Given the description of an element on the screen output the (x, y) to click on. 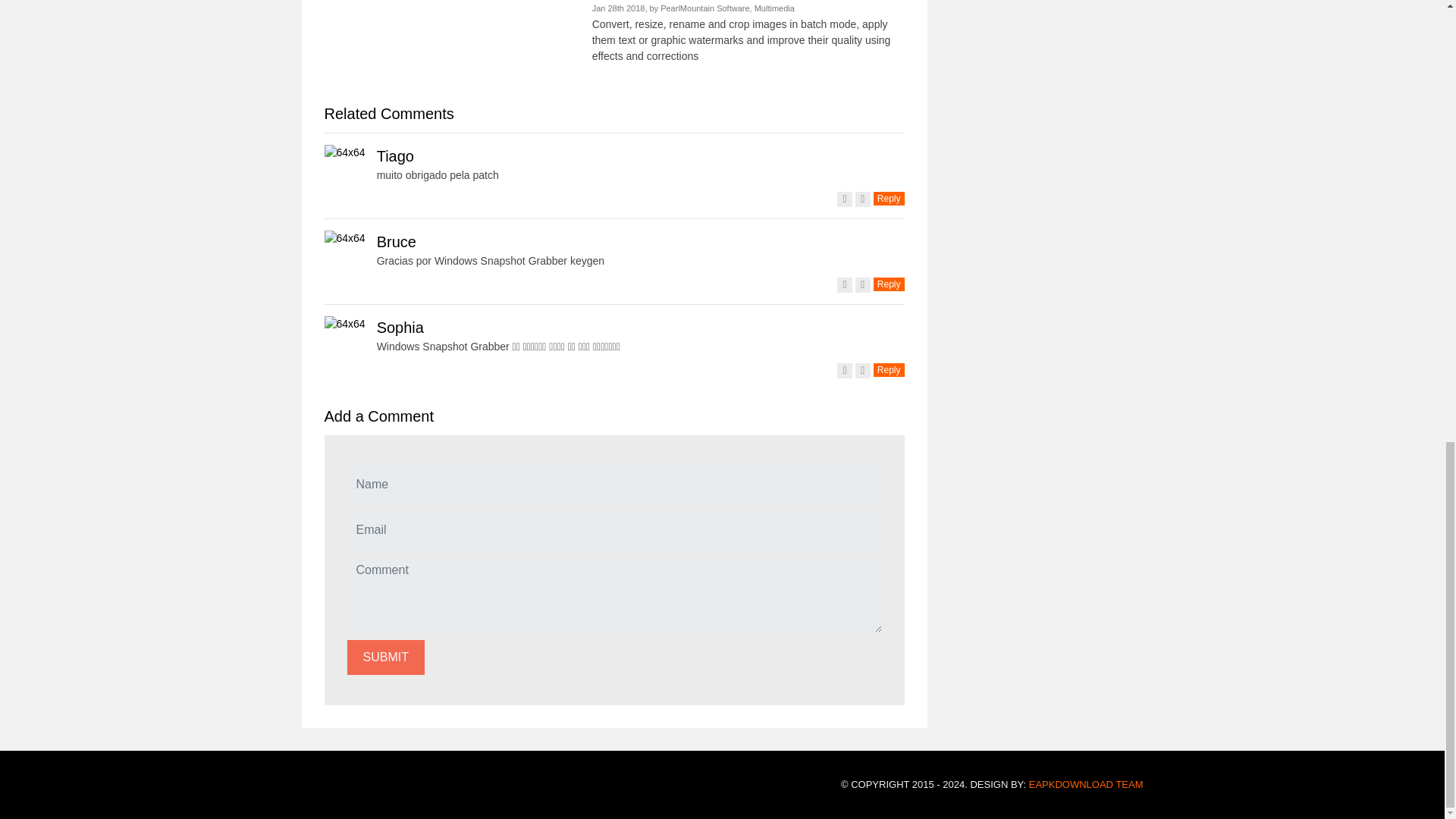
EapkDownload (1085, 784)
Reply (888, 198)
SUBMIT (386, 656)
Reply (888, 369)
Reply (888, 284)
